Given the description of an element on the screen output the (x, y) to click on. 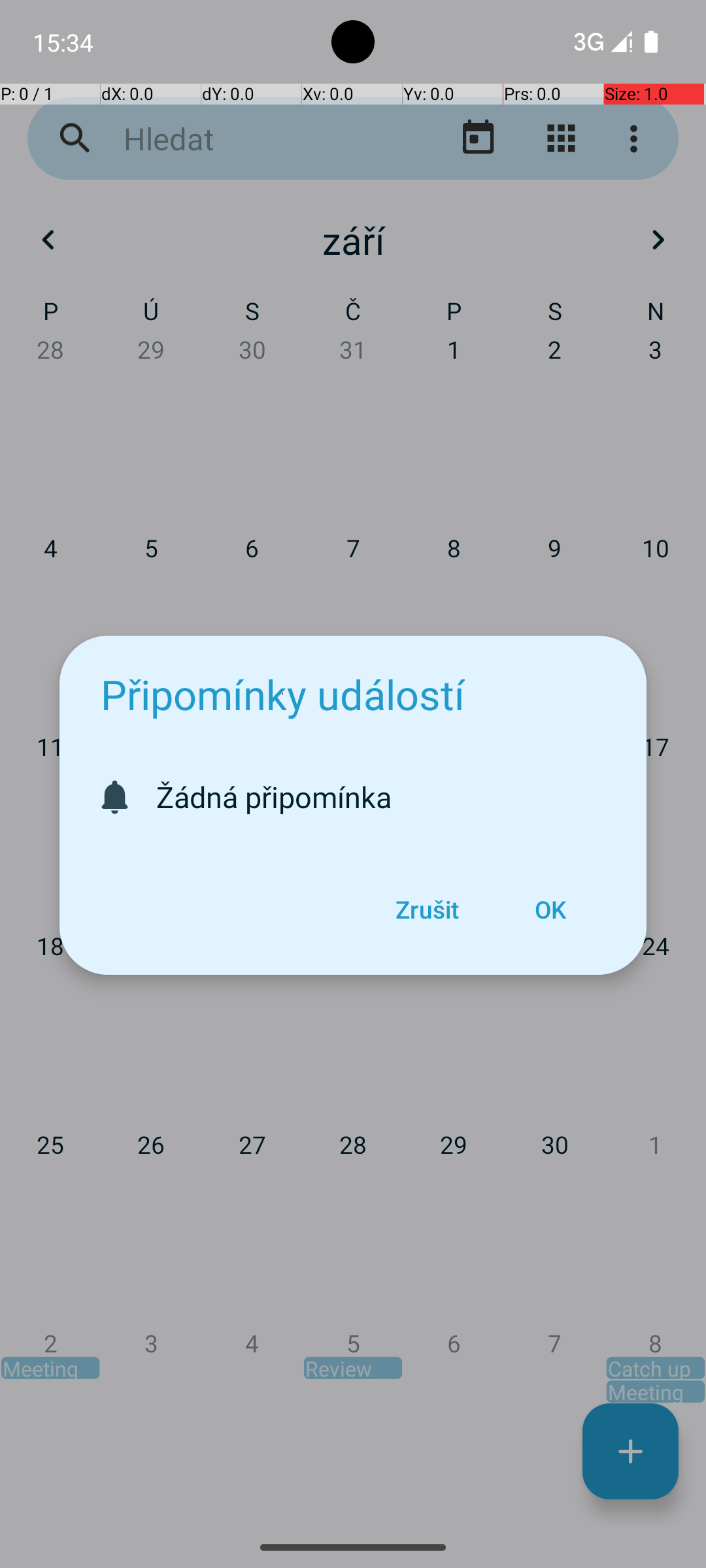
Připomínky událostí Element type: android.widget.TextView (282, 693)
Žádná připomínka Element type: android.widget.TextView (387, 796)
Zrušit Element type: android.widget.Button (426, 909)
